Given the description of an element on the screen output the (x, y) to click on. 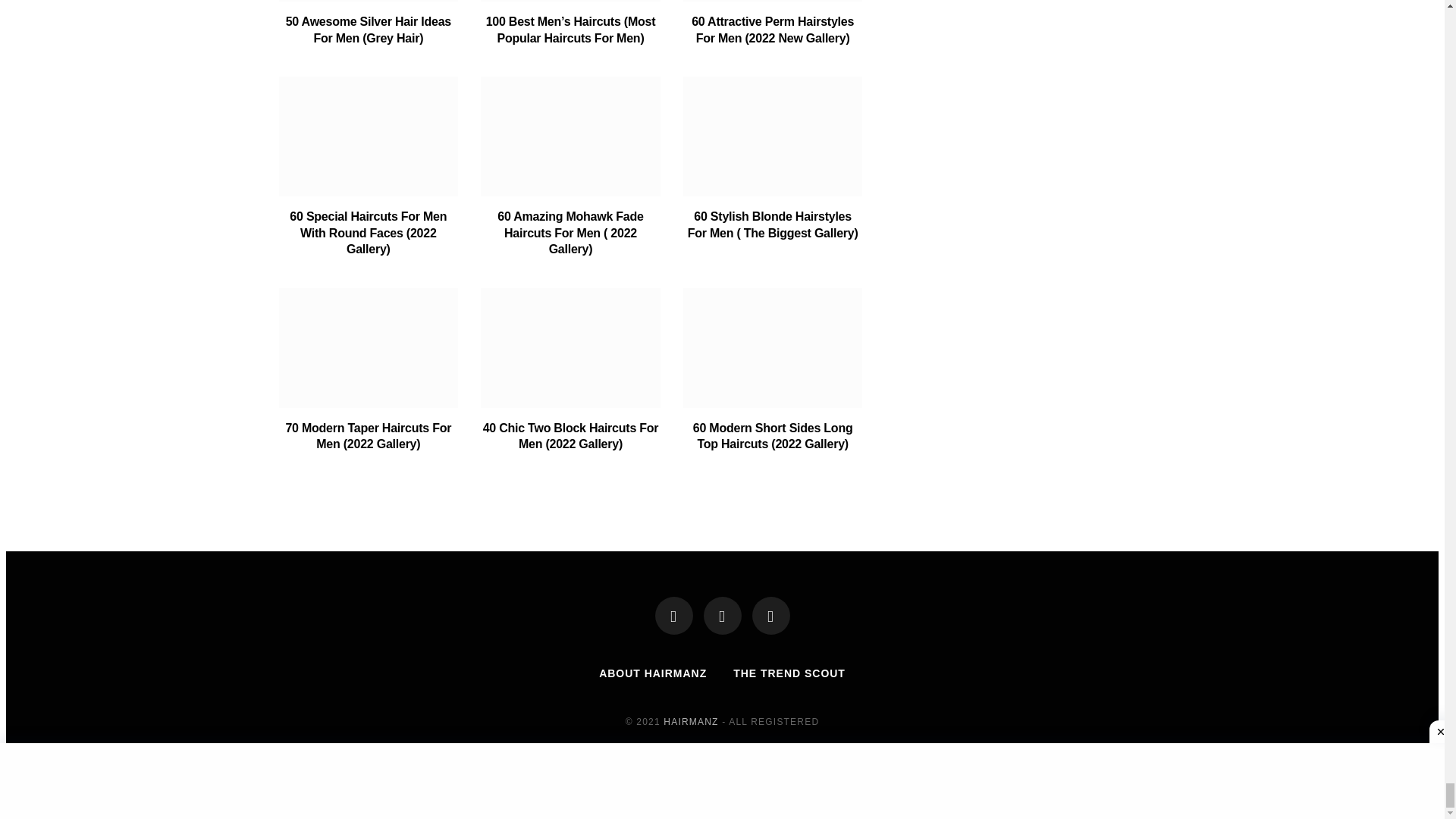
Instagram (771, 615)
Facebook (674, 615)
